Given the description of an element on the screen output the (x, y) to click on. 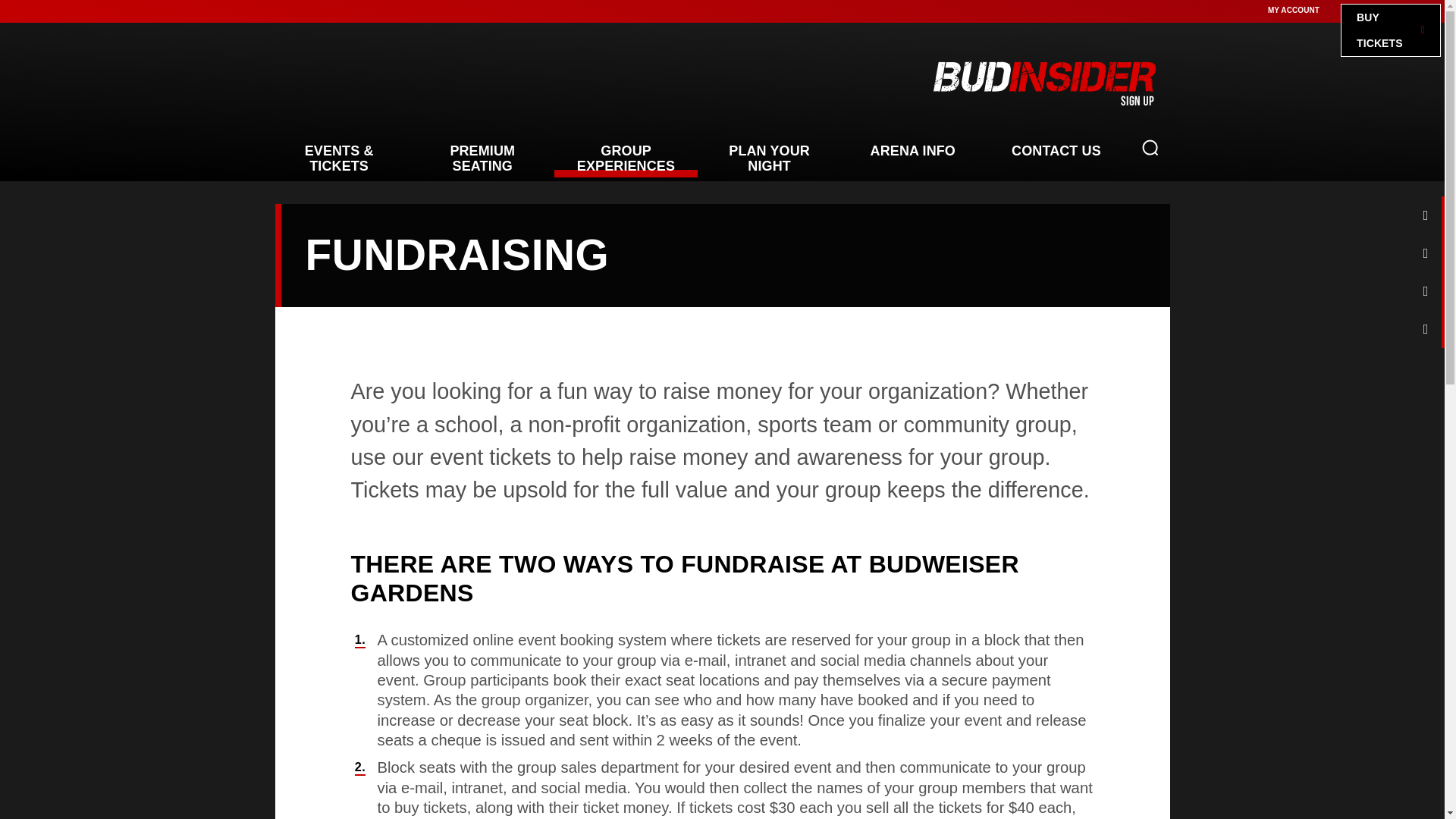
PLAN YOUR NIGHT (769, 158)
Bud Insider (1043, 82)
Budweiser Gardens (419, 82)
GROUP EXPERIENCES (625, 158)
BUY TICKETS (1390, 30)
Budweiser Gardens (419, 82)
PREMIUM SEATING (482, 158)
MY ACCOUNT (1293, 9)
